Given the description of an element on the screen output the (x, y) to click on. 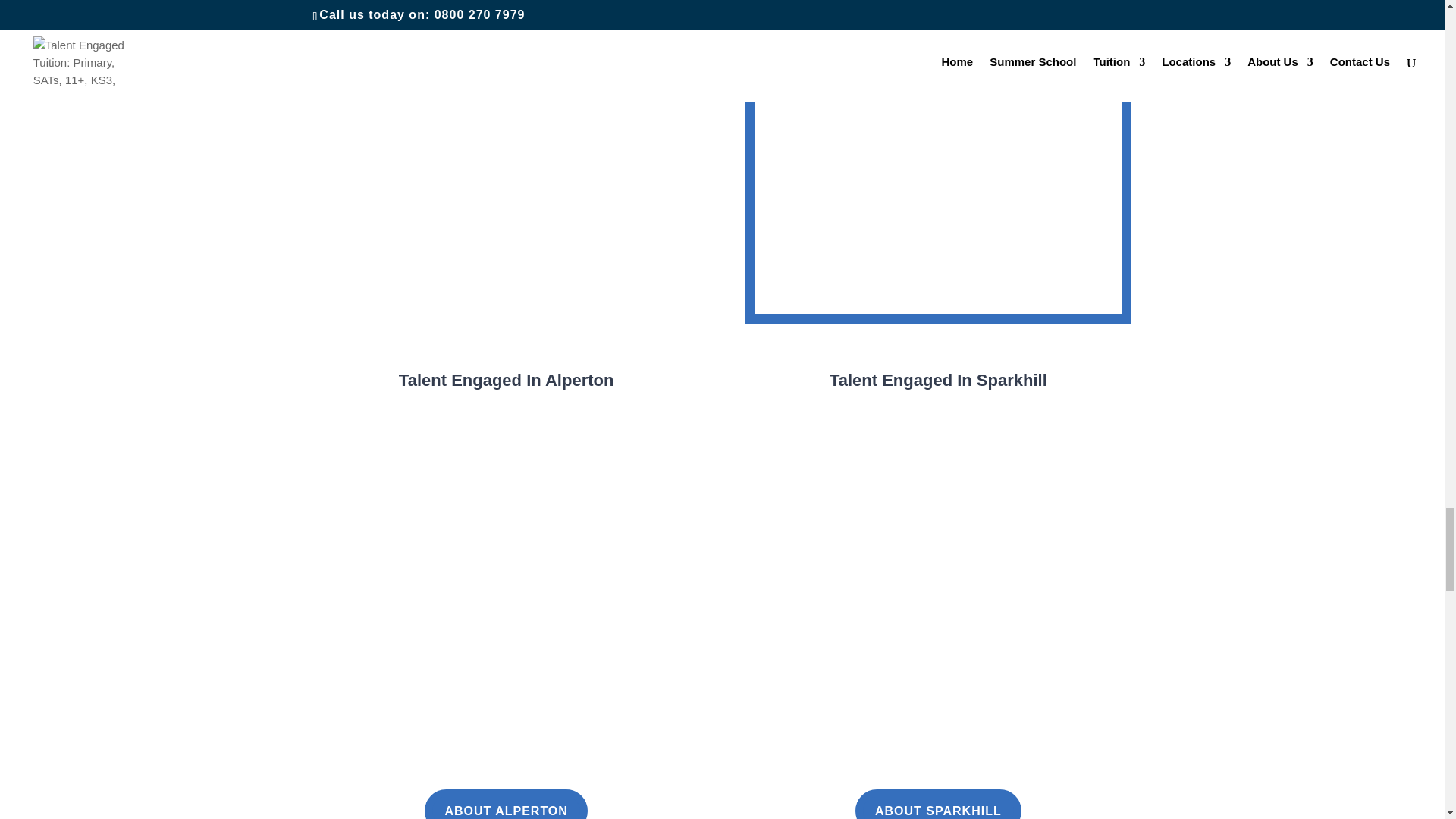
ABOUT SPARKHILL (939, 804)
Alperton Community School (489, 6)
Talent Engaged Tuition Tour (937, 156)
ABOUT ALPERTON (505, 804)
